Given the description of an element on the screen output the (x, y) to click on. 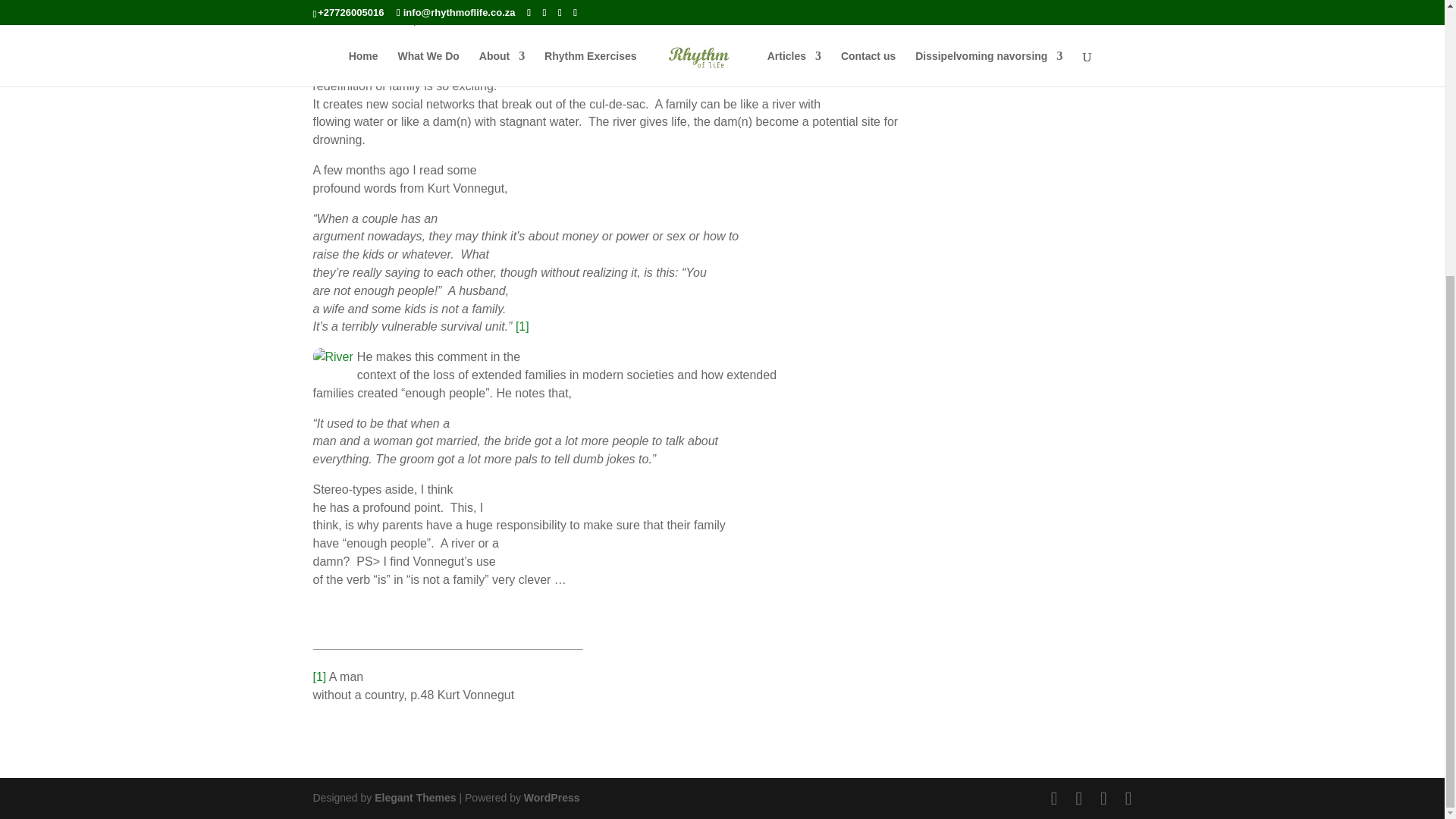
Premium WordPress Themes (414, 797)
